Given the description of an element on the screen output the (x, y) to click on. 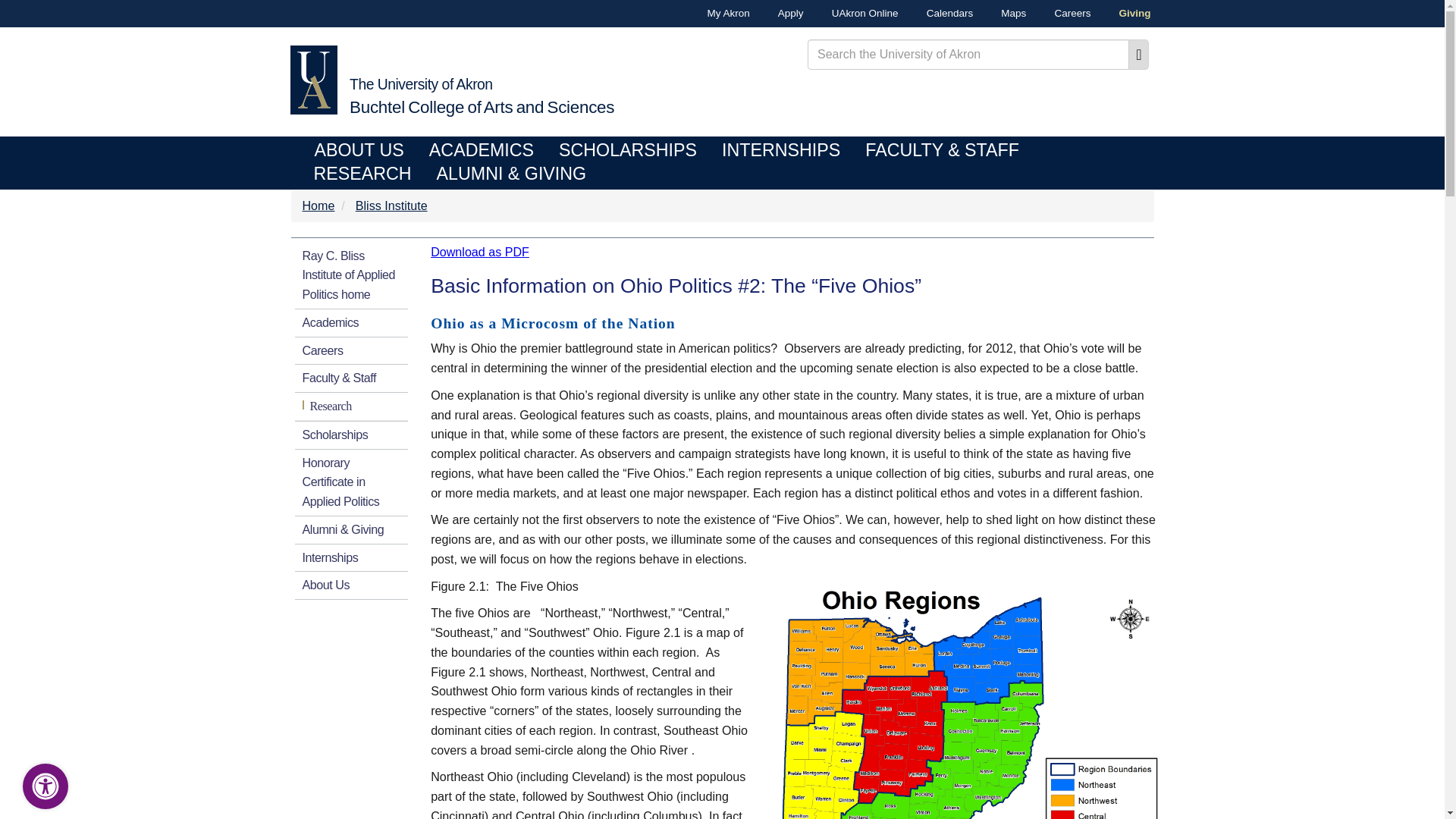
Home (317, 205)
Ray C. Bliss Institute of Applied Politics home (350, 275)
Careers (1058, 13)
Calendars (936, 13)
Maps (999, 13)
INTERNSHIPS (781, 150)
Careers (350, 350)
SCHOLARSHIPS (628, 150)
RESEARCH (361, 174)
Academics (350, 322)
Apply (776, 13)
Research (350, 406)
Bliss Institute (481, 96)
ACADEMICS (391, 205)
